Given the description of an element on the screen output the (x, y) to click on. 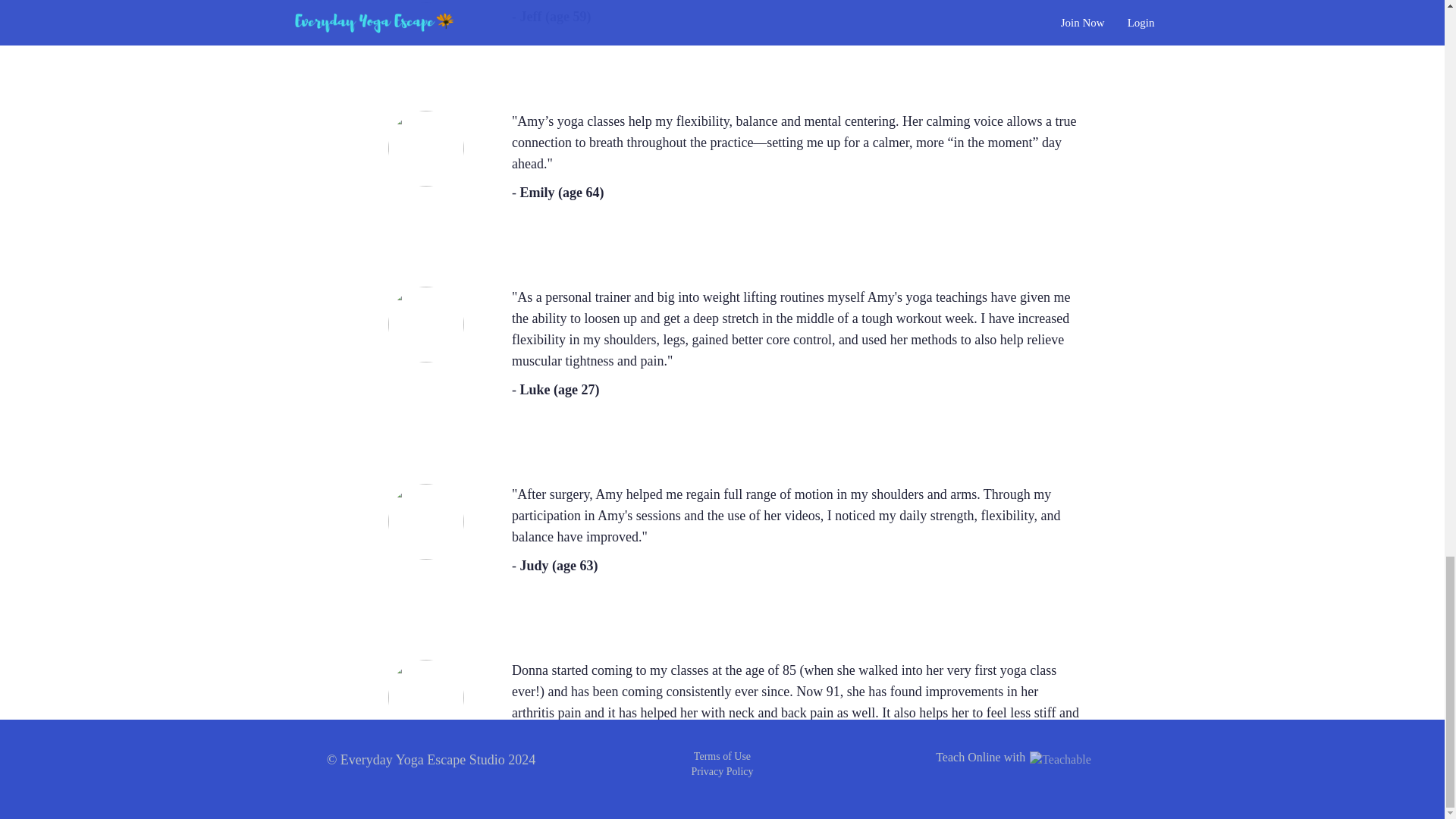
Teach Online with (1013, 757)
Terms of Use (722, 756)
Privacy Policy (721, 771)
